Given the description of an element on the screen output the (x, y) to click on. 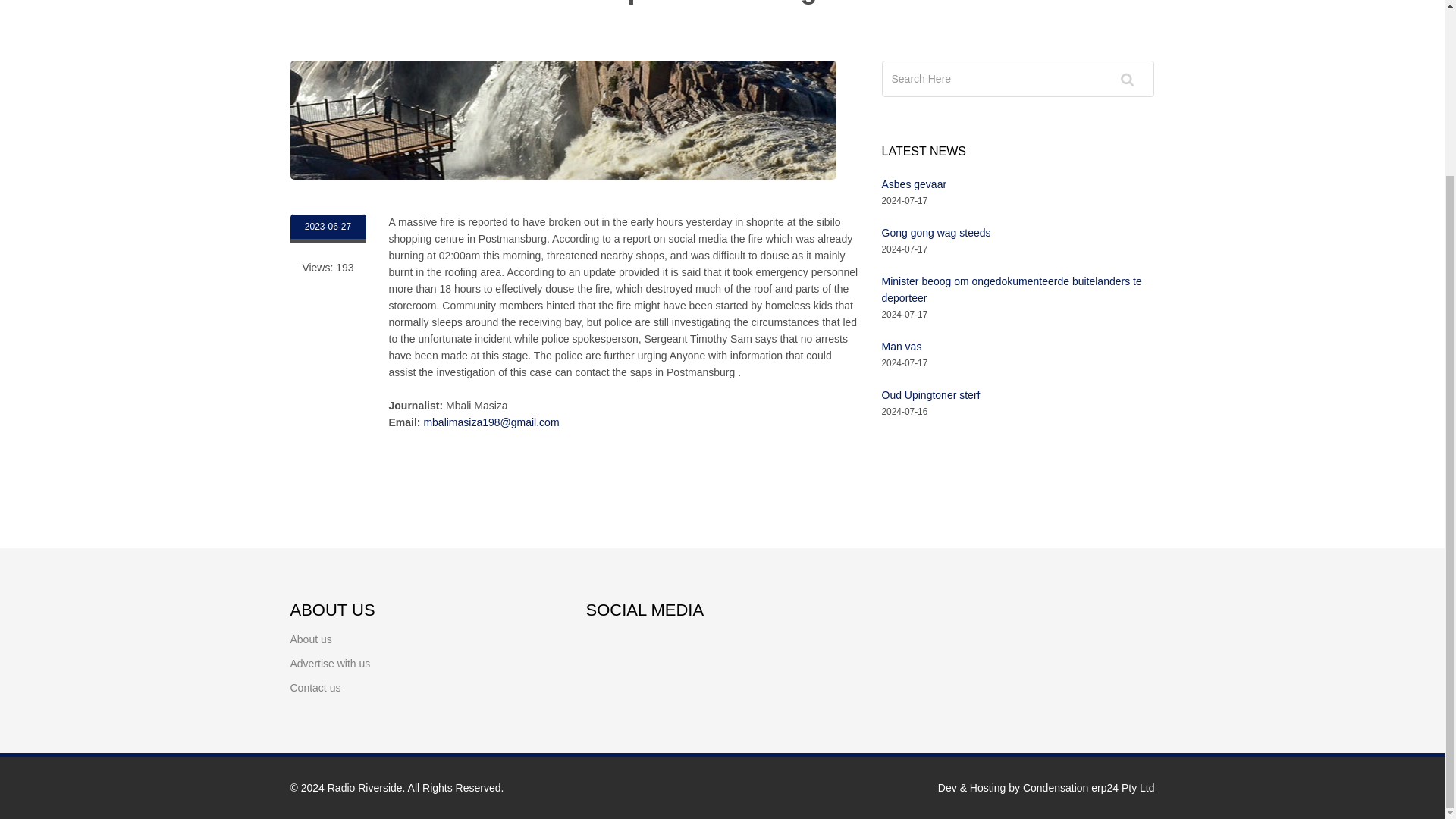
Advertise with us (329, 652)
Man vas (900, 346)
Asbes gevaar (913, 184)
Condensation erp24 Pty Ltd (1088, 787)
Gong gong wag steeds (935, 232)
Contact us (314, 676)
About us (310, 625)
Oud Upingtoner sterf (929, 395)
Our website (365, 787)
Radio Riverside (365, 787)
